Given the description of an element on the screen output the (x, y) to click on. 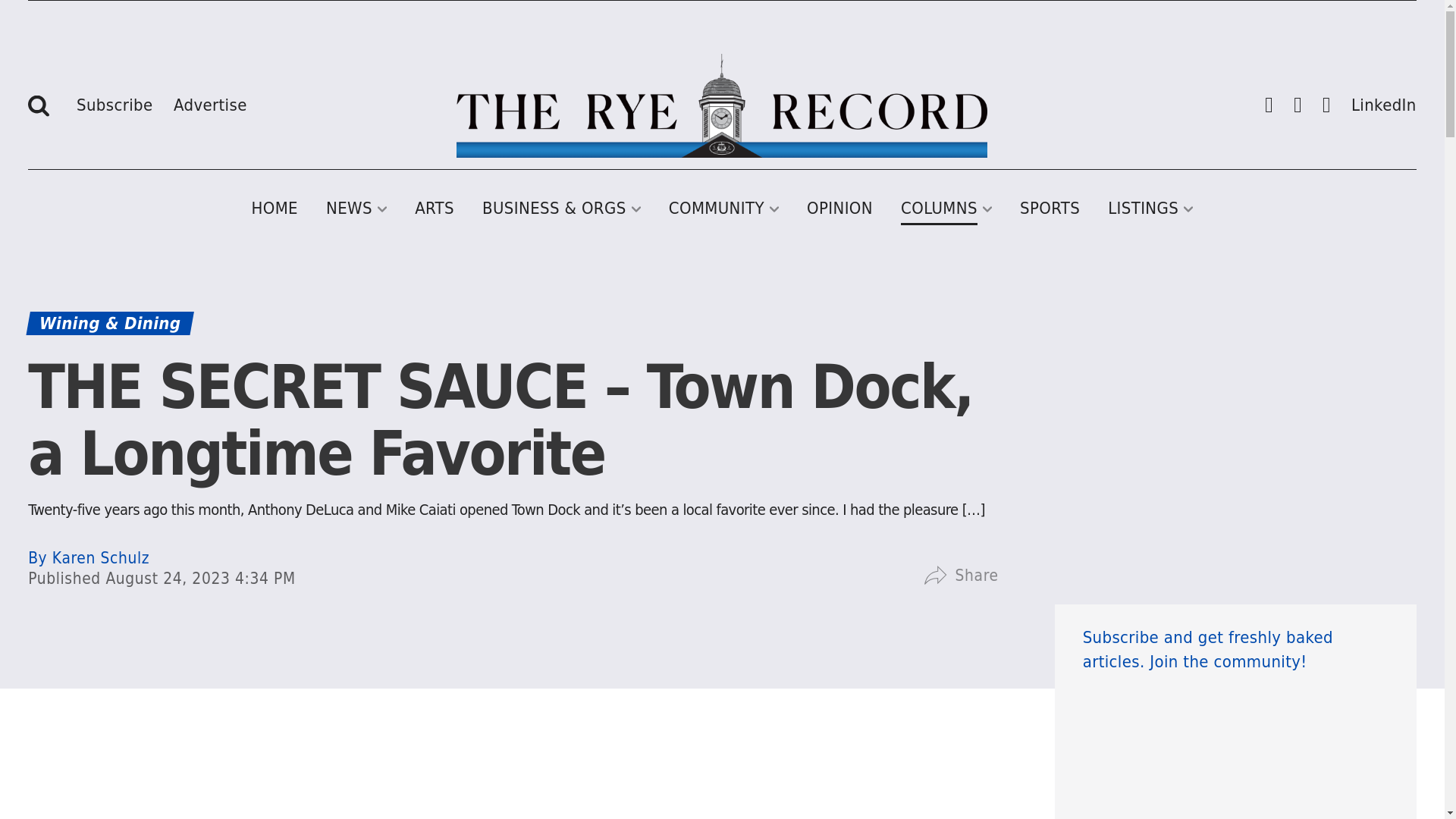
Advertise (210, 101)
Subscribe (114, 101)
Karen Schulz (88, 557)
